Given the description of an element on the screen output the (x, y) to click on. 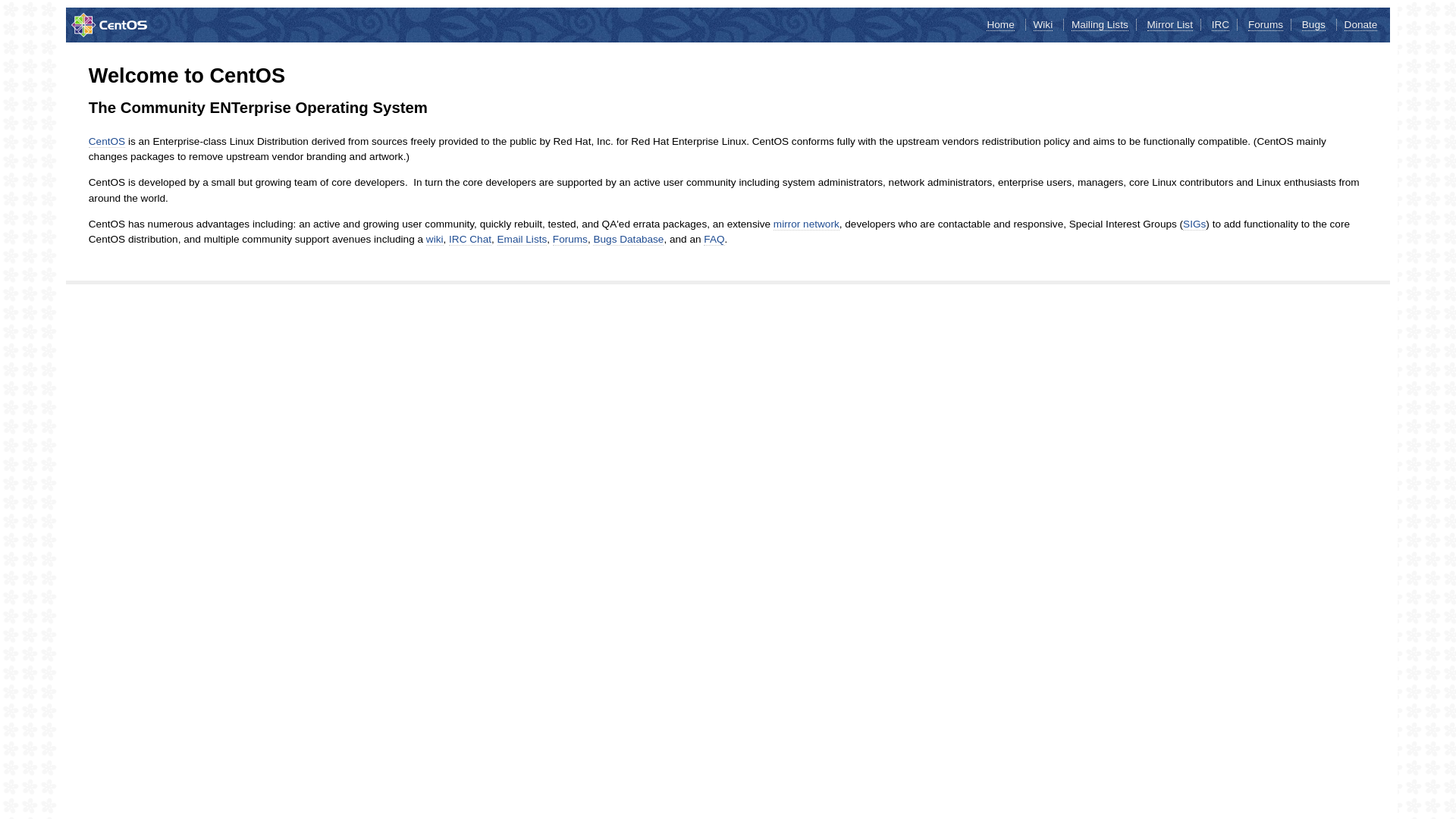
Email Lists Element type: text (522, 239)
Bugs Database Element type: text (628, 239)
Home Element type: text (999, 24)
Forums Element type: text (1265, 24)
Bugs Element type: text (1313, 24)
Donate Element type: text (1360, 24)
Mirror List Element type: text (1169, 24)
Forums Element type: text (569, 239)
Wiki Element type: text (1042, 24)
mirror network Element type: text (806, 224)
CentOS Element type: text (106, 141)
IRC Chat Element type: text (469, 239)
IRC Element type: text (1220, 24)
SIGs Element type: text (1194, 224)
wiki Element type: text (434, 239)
Mailing Lists Element type: text (1099, 24)
FAQ Element type: text (713, 239)
